Given the description of an element on the screen output the (x, y) to click on. 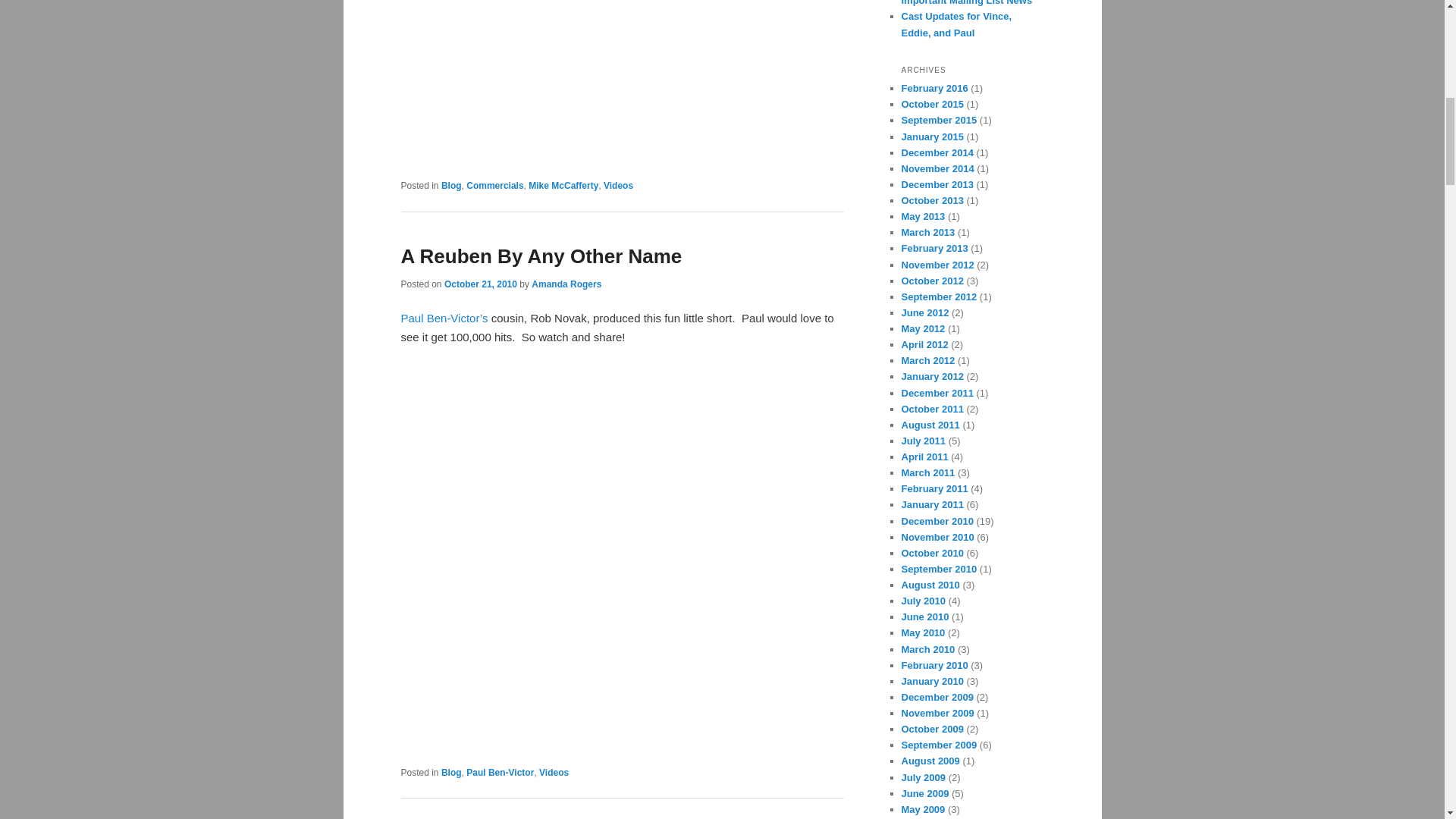
View all posts by Amanda Rogers (566, 284)
A Reuben By Any Other Name (540, 255)
Videos (553, 772)
8:21 pm (480, 284)
October 21, 2010 (480, 284)
Videos (618, 185)
Blog (451, 772)
Amanda Rogers (566, 284)
Blog (451, 185)
Mike McCafferty (563, 185)
